Given the description of an element on the screen output the (x, y) to click on. 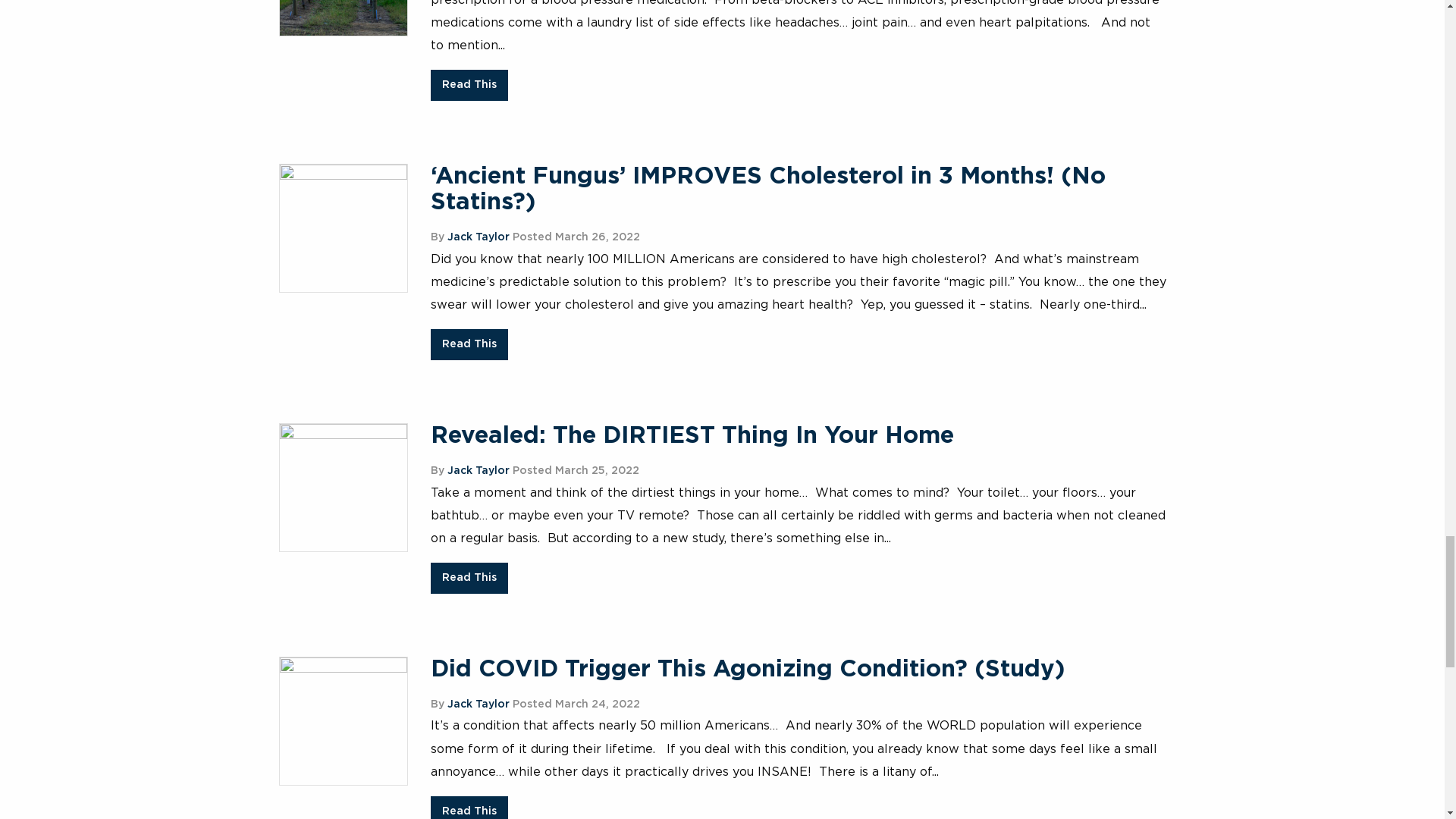
Read This (469, 84)
Read This (469, 344)
Jack Taylor (477, 236)
